Given the description of an element on the screen output the (x, y) to click on. 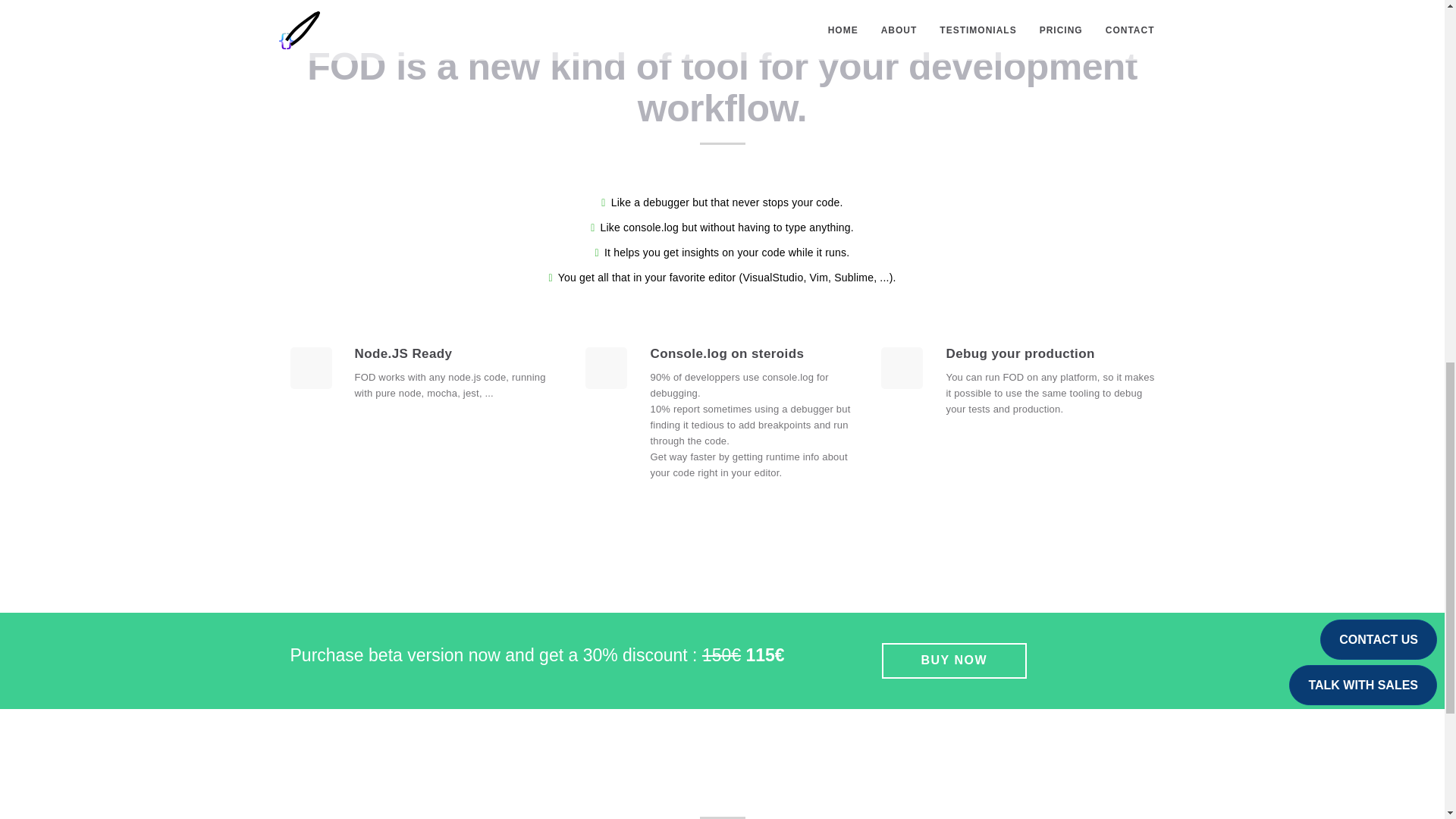
BUY NOW (953, 660)
